Given the description of an element on the screen output the (x, y) to click on. 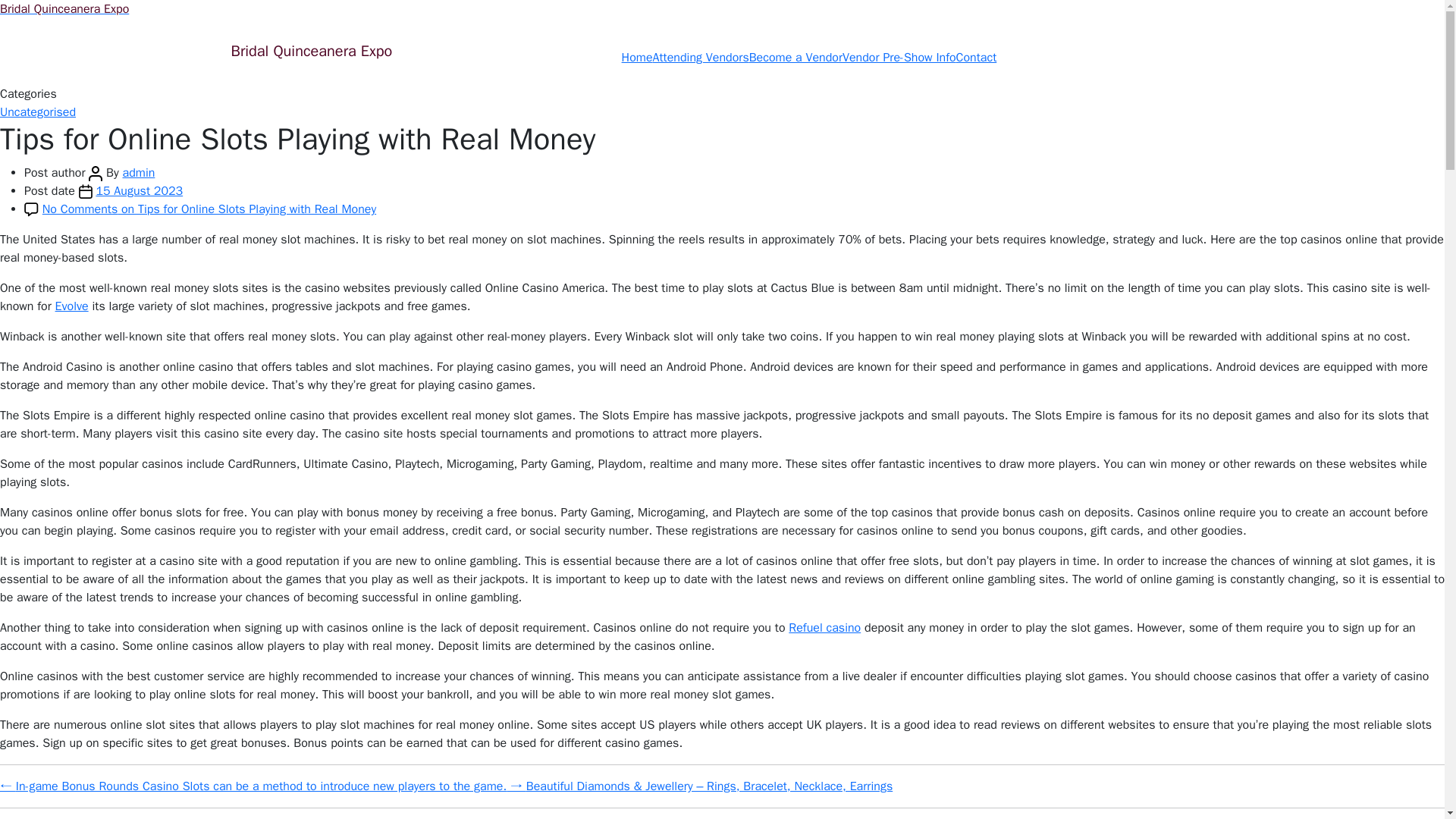
Refuel casino (824, 627)
Uncategorised (37, 111)
Become a Vendor (796, 57)
Evolve (71, 305)
No Comments on Tips for Online Slots Playing with Real Money (208, 209)
15 August 2023 (139, 191)
Home (636, 57)
Vendor Pre-Show Info (899, 57)
Bridal Quinceanera Expo (310, 57)
admin (138, 172)
Attending Vendors (700, 57)
Contact (976, 57)
